Given the description of an element on the screen output the (x, y) to click on. 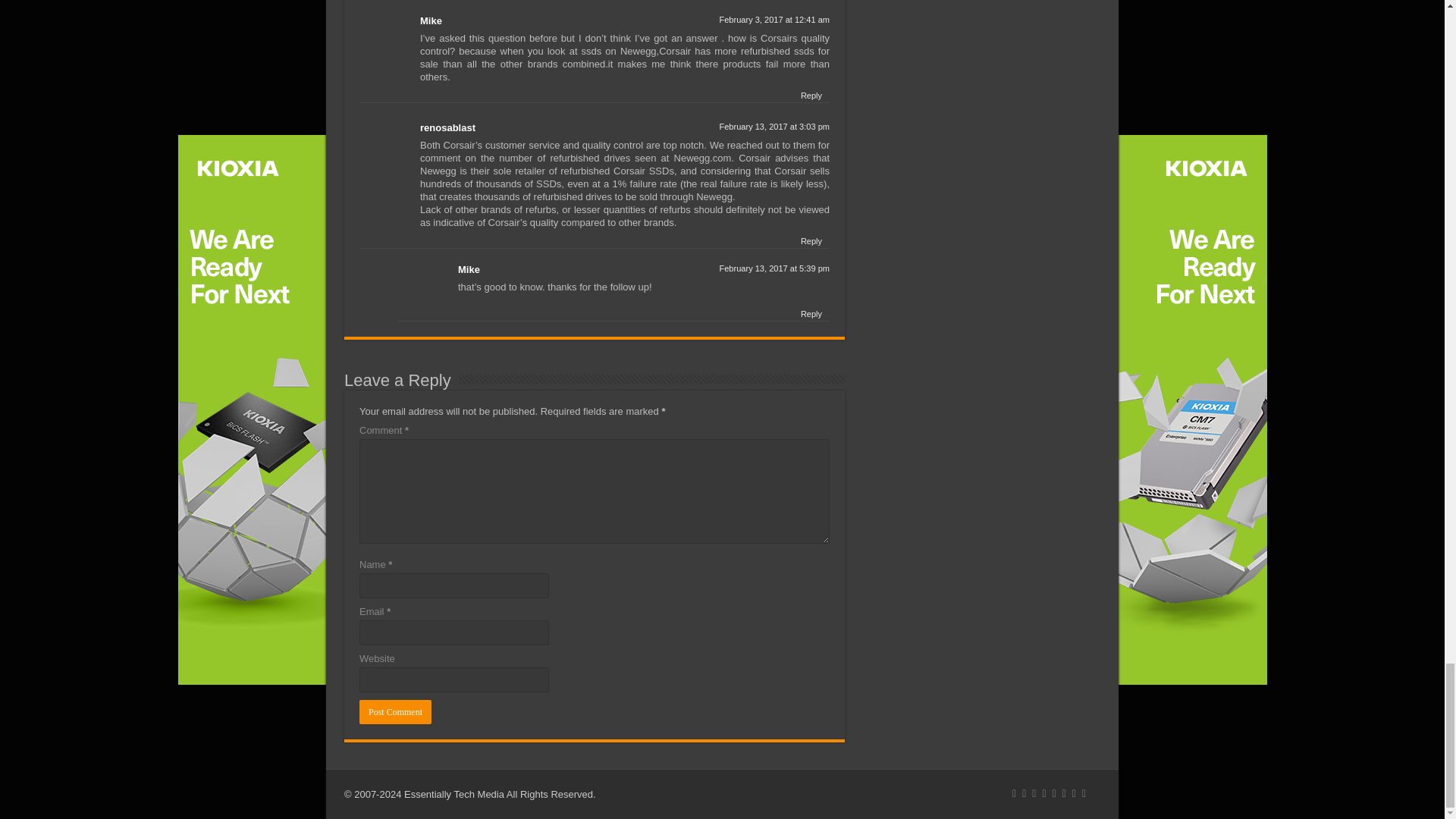
Post Comment (394, 711)
